Given the description of an element on the screen output the (x, y) to click on. 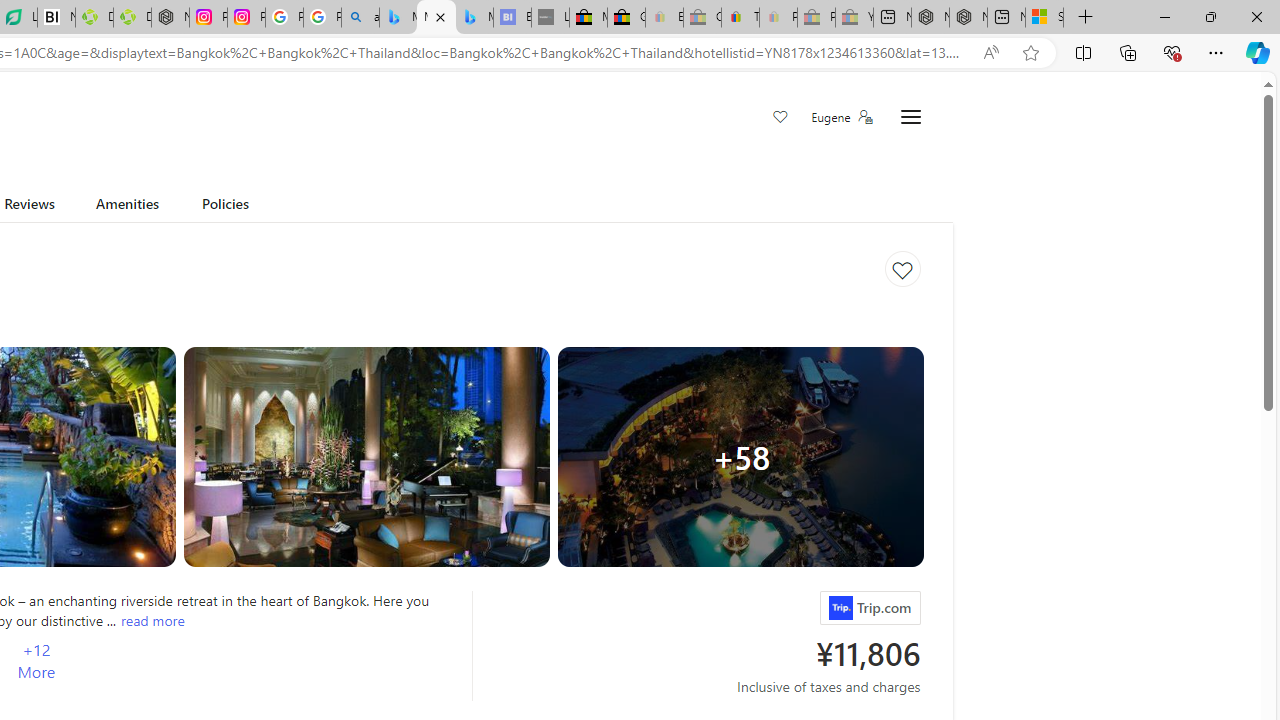
Descarga Driver Updater (132, 17)
+12 More Amenities (36, 661)
Save to collections (902, 269)
Trip.com (840, 607)
Amenities (126, 207)
Hotel room image + 58 (740, 456)
Nordace - Nordace Edin Collection (170, 17)
